Given the description of an element on the screen output the (x, y) to click on. 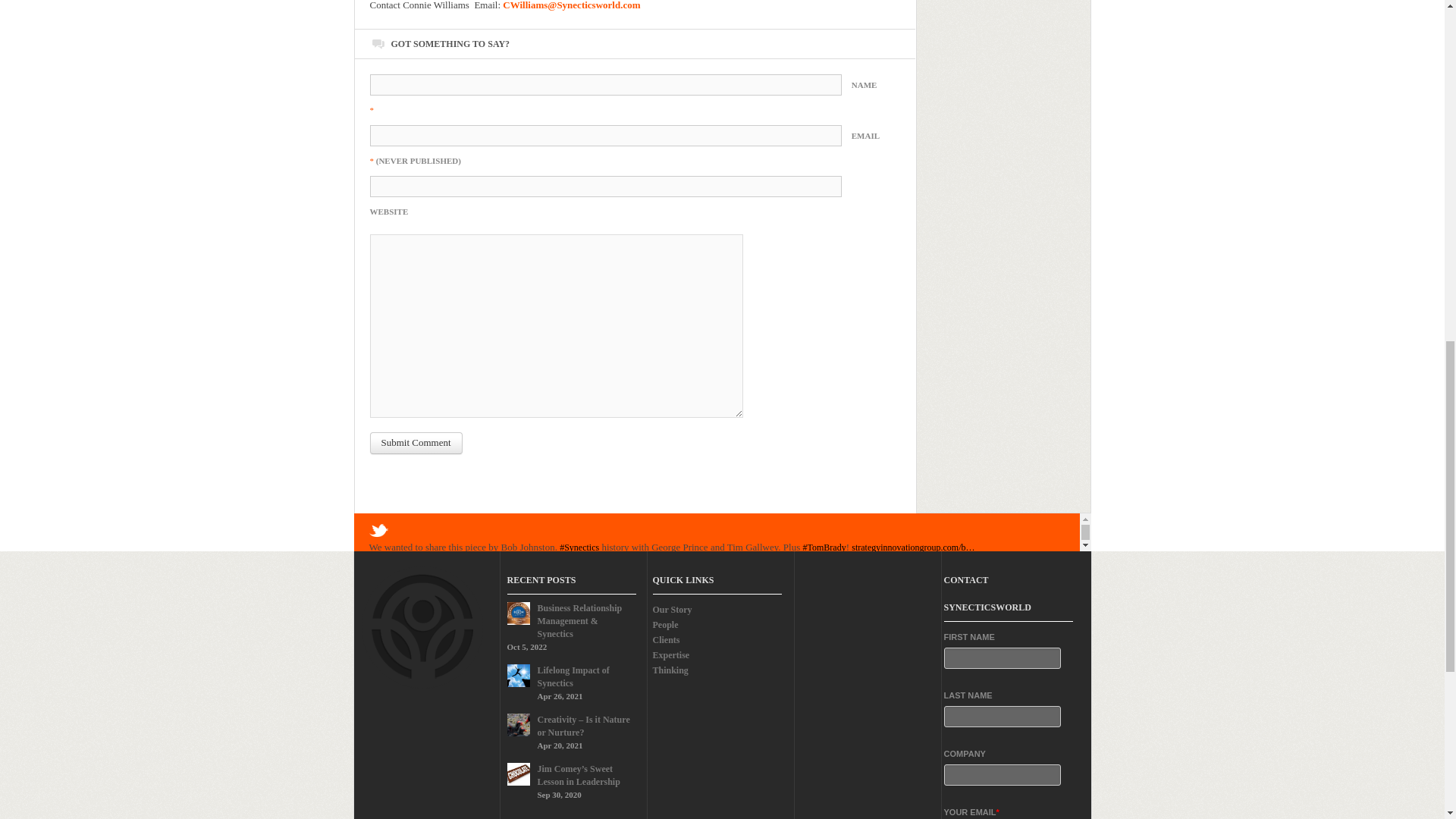
Synecticsworld (499, 560)
